Given the description of an element on the screen output the (x, y) to click on. 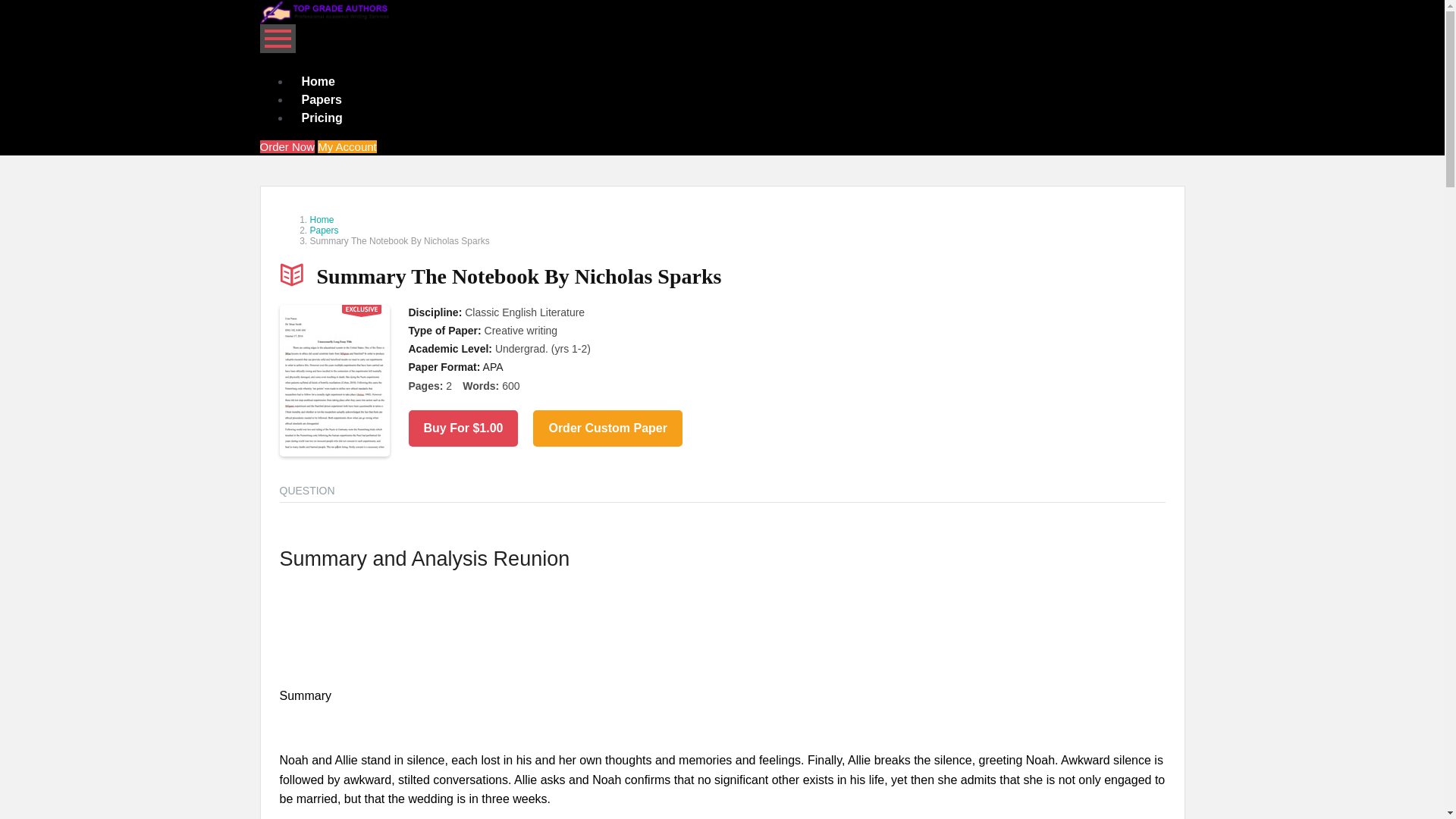
Creative writing (520, 330)
Home (320, 219)
Order Custom Paper (606, 428)
Home (317, 81)
Classic English Literature (524, 312)
Papers (322, 230)
My Account (347, 146)
Pricing (321, 117)
Order Now (286, 146)
Papers (320, 99)
